Given the description of an element on the screen output the (x, y) to click on. 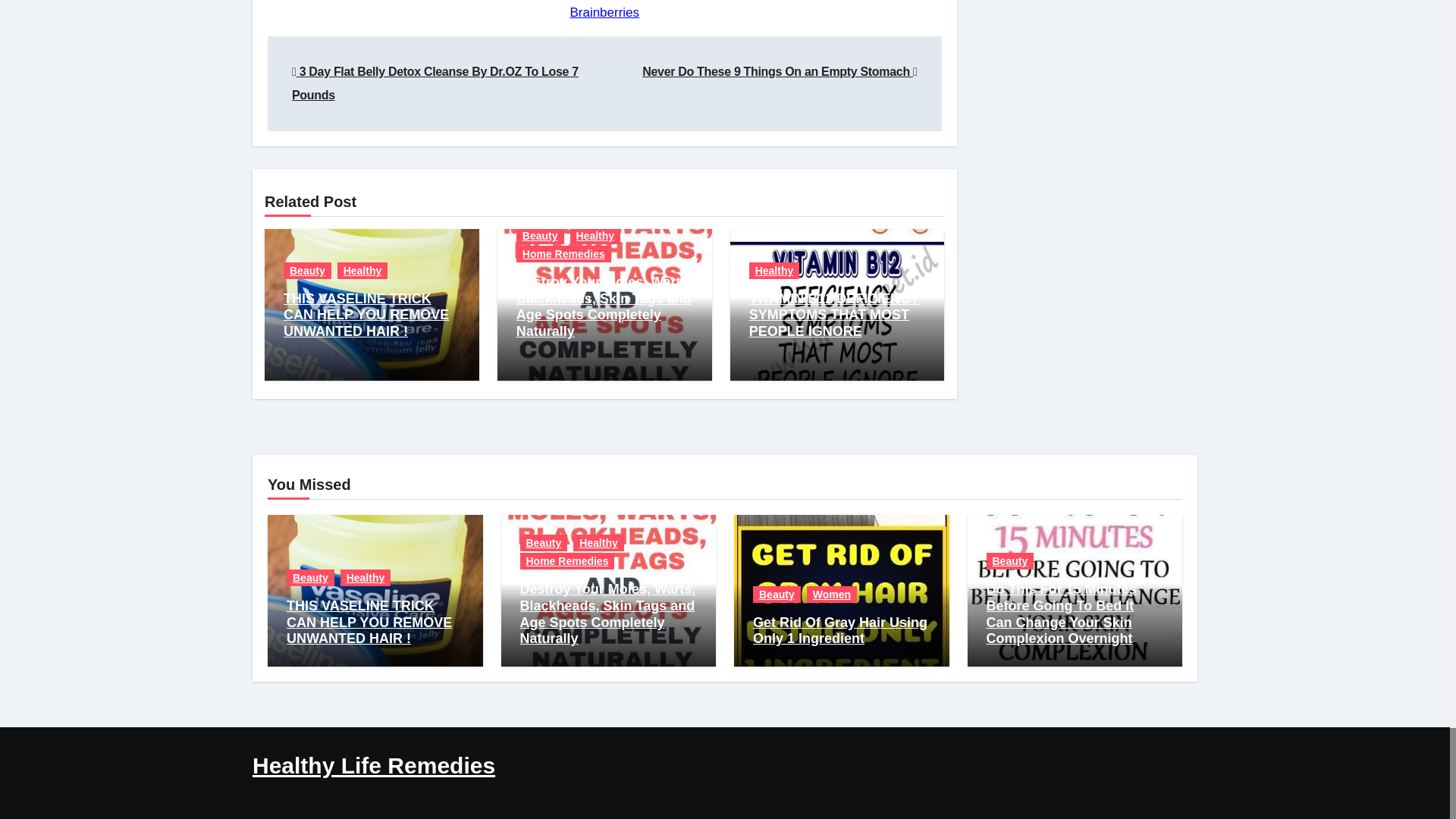
VITAMIN B12 DEFICIENCY SYMPTOMS THAT MOST PEOPLE IGNORE (834, 315)
Home Remedies (563, 253)
Permalink to: Get Rid Of Gray Hair Using Only 1 Ingredient (839, 631)
Beauty (310, 577)
Healthy (362, 270)
Healthy (595, 235)
THIS VASELINE TRICK CAN HELP YOU REMOVE UNWANTED HAIR ! (368, 622)
Healthy (365, 577)
Never Do These 9 Things On an Empty Stomach (779, 71)
3 Day Flat Belly Detox Cleanse By Dr.OZ To Lose 7 Pounds (435, 82)
